Given the description of an element on the screen output the (x, y) to click on. 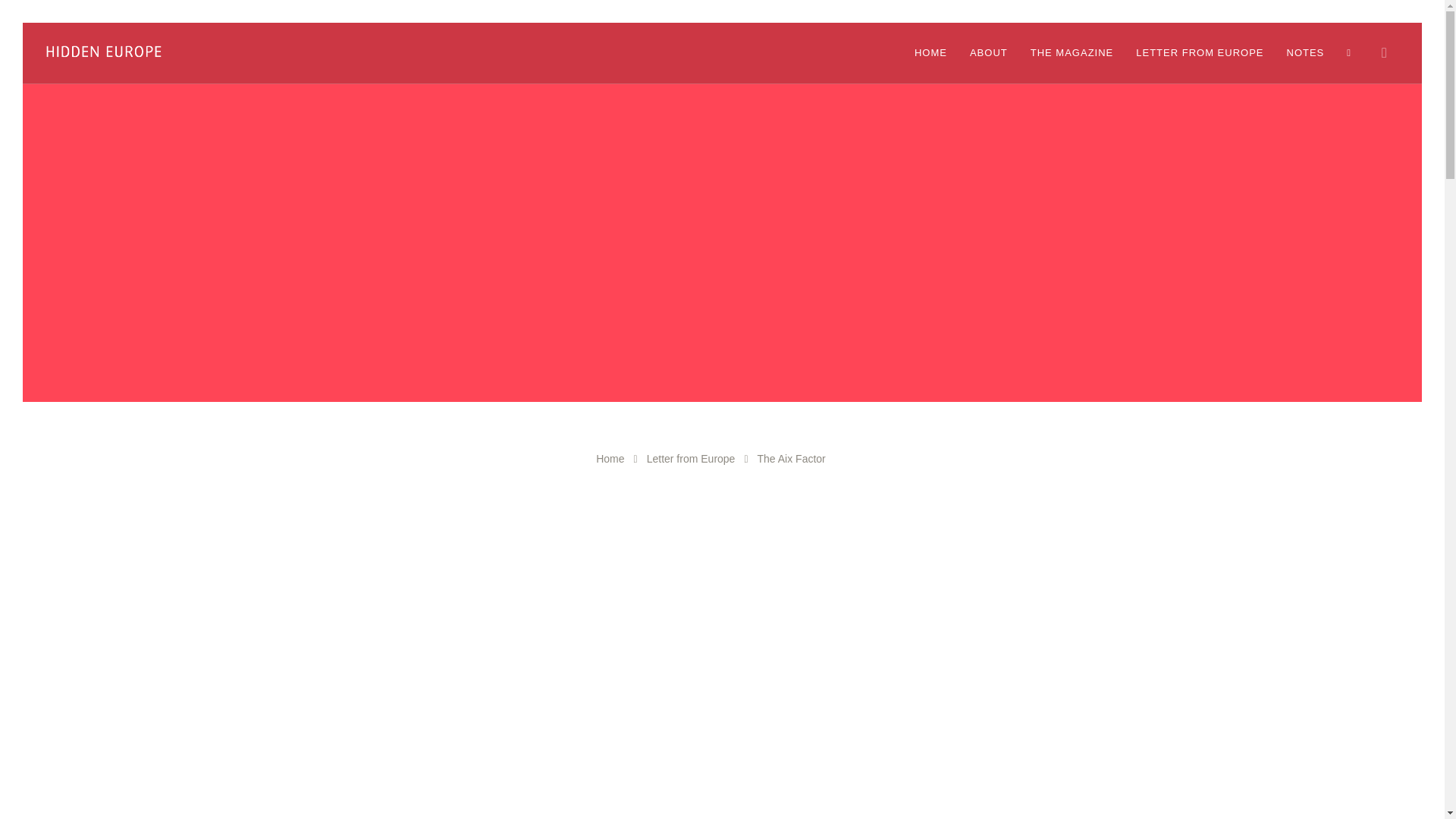
ABOUT (988, 52)
HOME (930, 52)
Home (609, 458)
LETTER FROM EUROPE (1199, 52)
Login (1352, 52)
Letter from Europe (690, 458)
NOTES (1304, 52)
THE MAGAZINE (1071, 52)
